Given the description of an element on the screen output the (x, y) to click on. 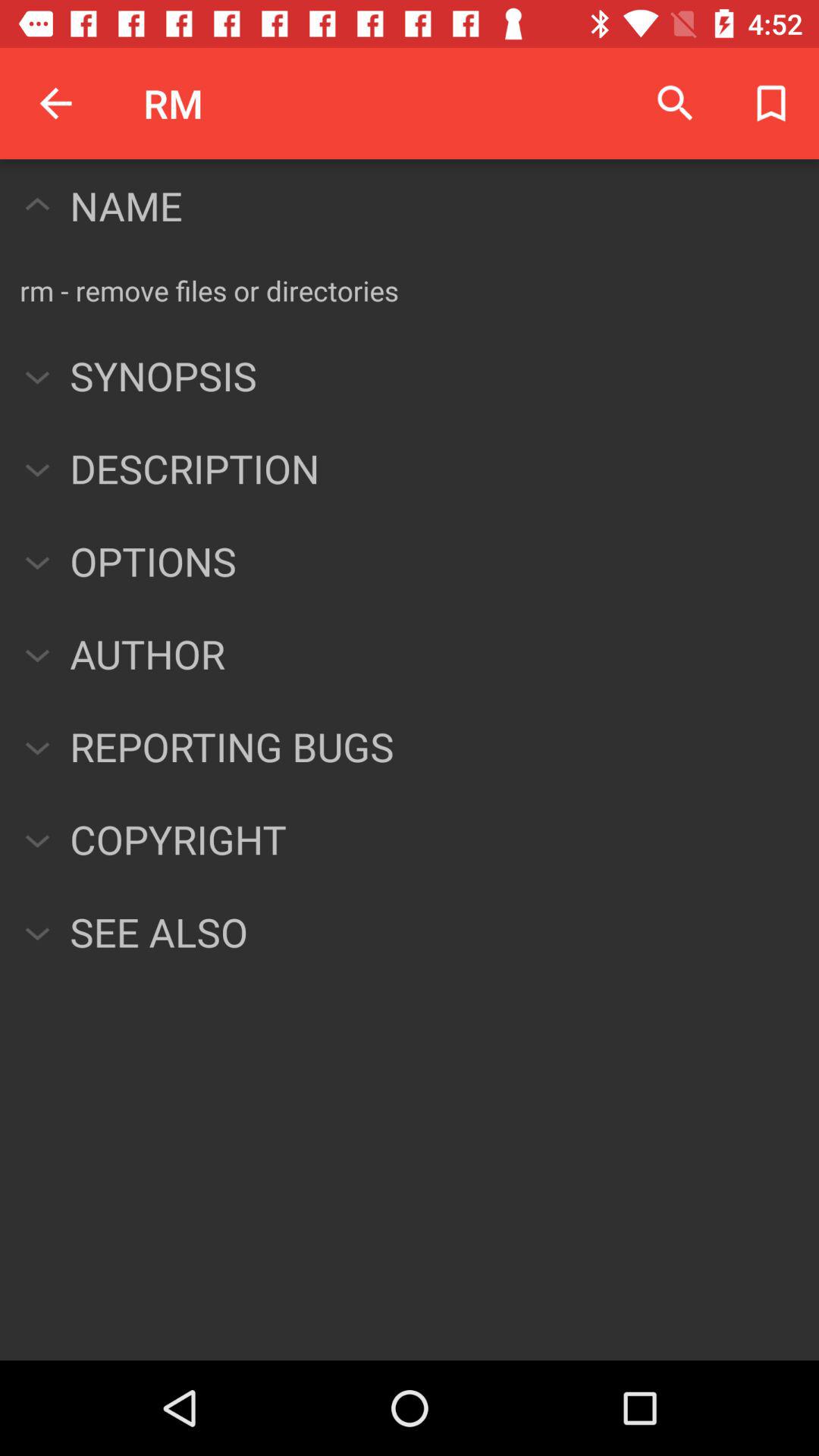
launch item next to the rm item (55, 103)
